Given the description of an element on the screen output the (x, y) to click on. 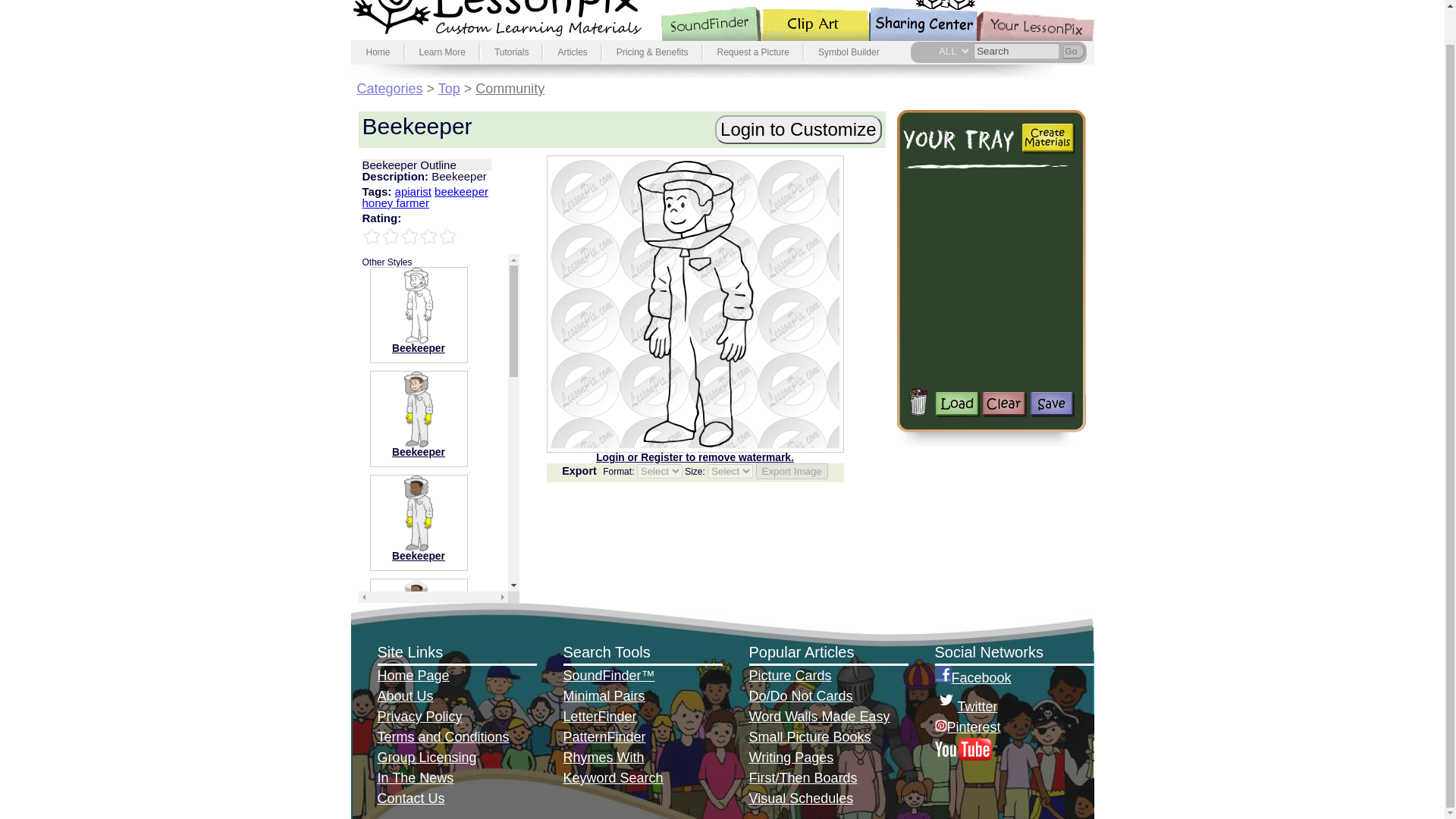
honey farmer (395, 202)
Beekeeper (418, 348)
Go (1072, 51)
beekeeper (460, 191)
Categories (389, 88)
Clip Art (823, 20)
Beekeeper Picture (418, 451)
Search for honey farmer Pictures (395, 202)
Symbol Builder (848, 51)
Beekeeper (418, 451)
Articles (571, 51)
Beekeeper Picture (418, 443)
Beekeeper (418, 555)
Search (1016, 50)
Export Image (791, 471)
